Given the description of an element on the screen output the (x, y) to click on. 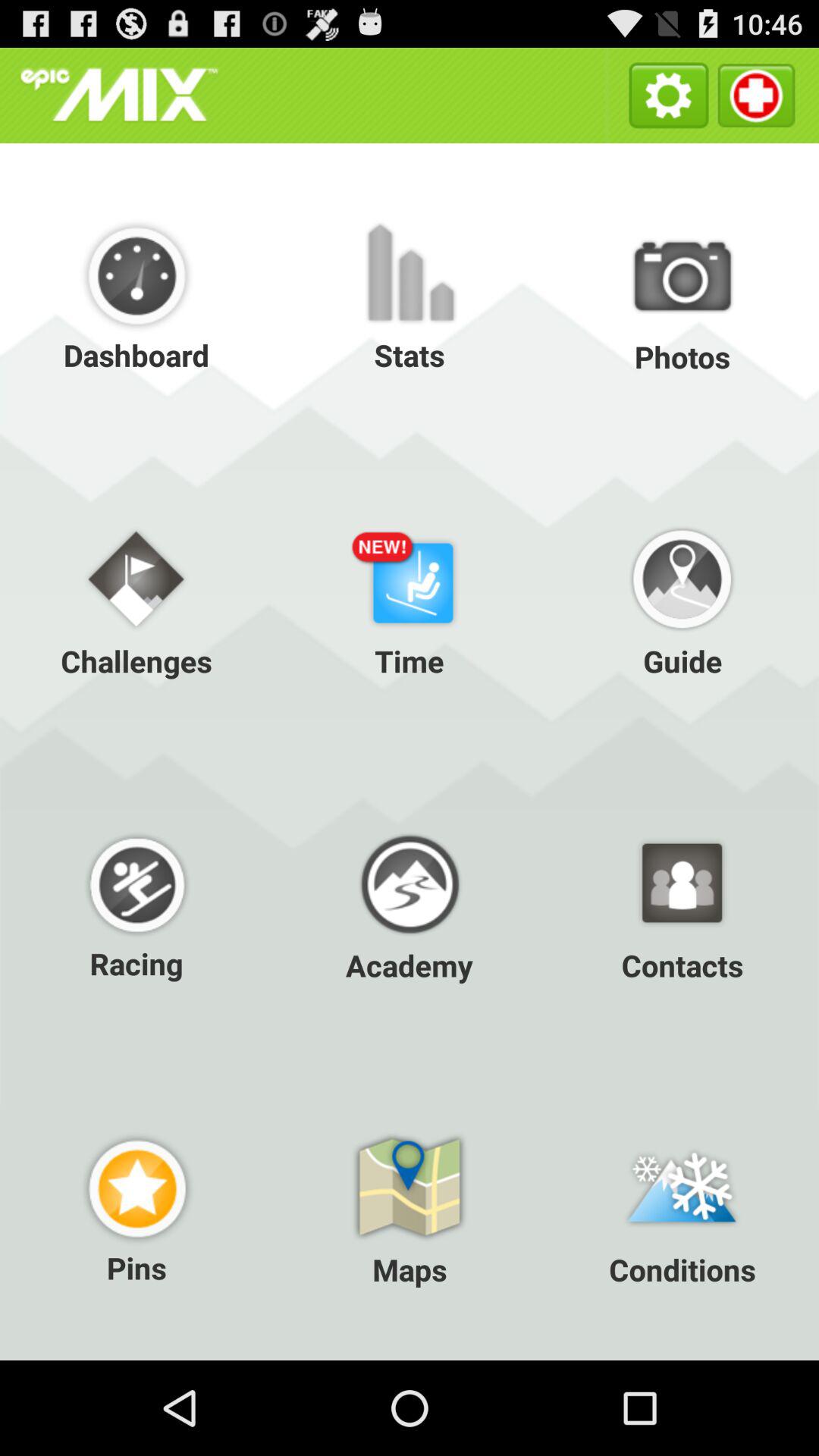
click the item above the photos (668, 95)
